Given the description of an element on the screen output the (x, y) to click on. 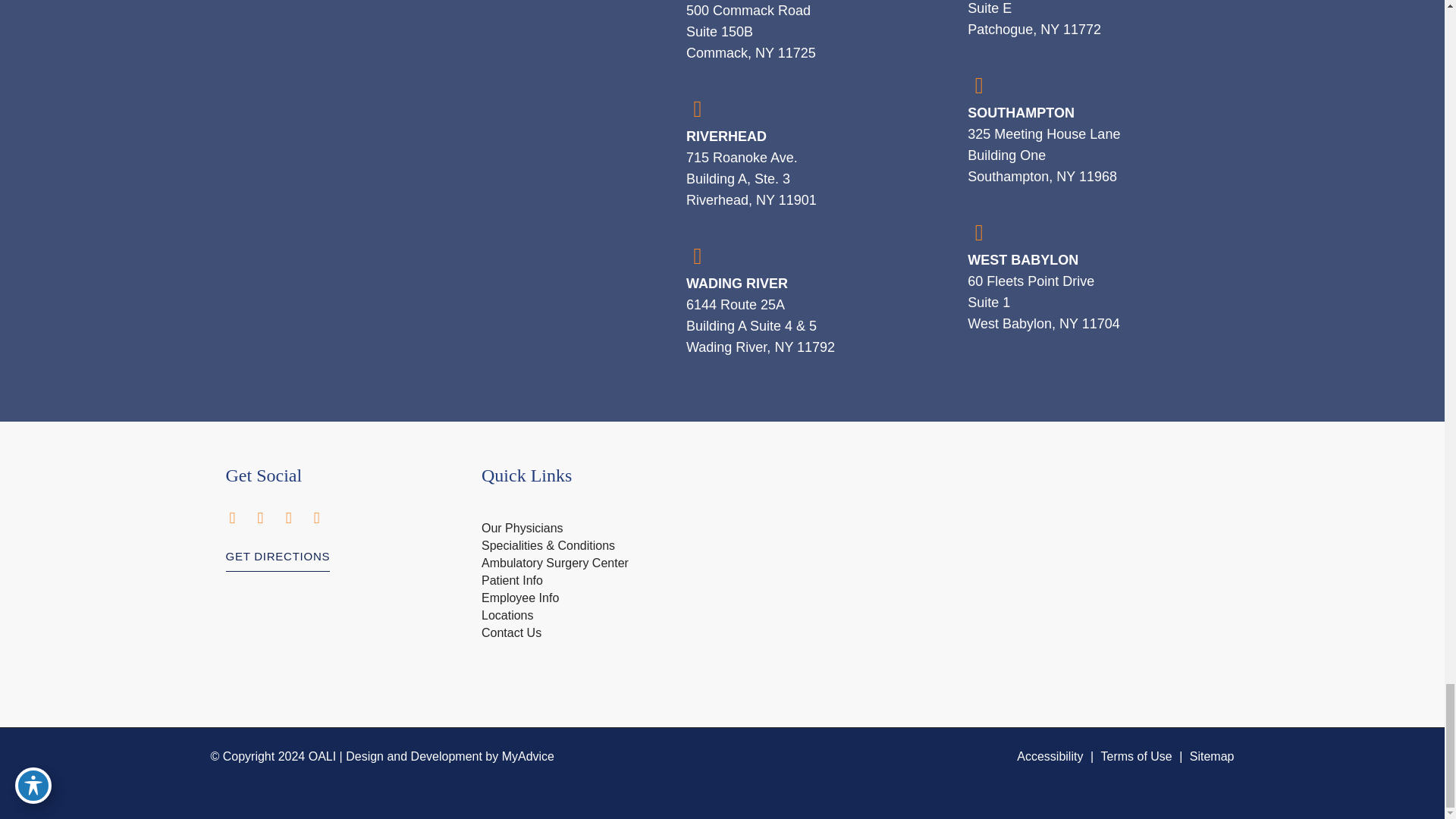
Map Location (977, 528)
